Given the description of an element on the screen output the (x, y) to click on. 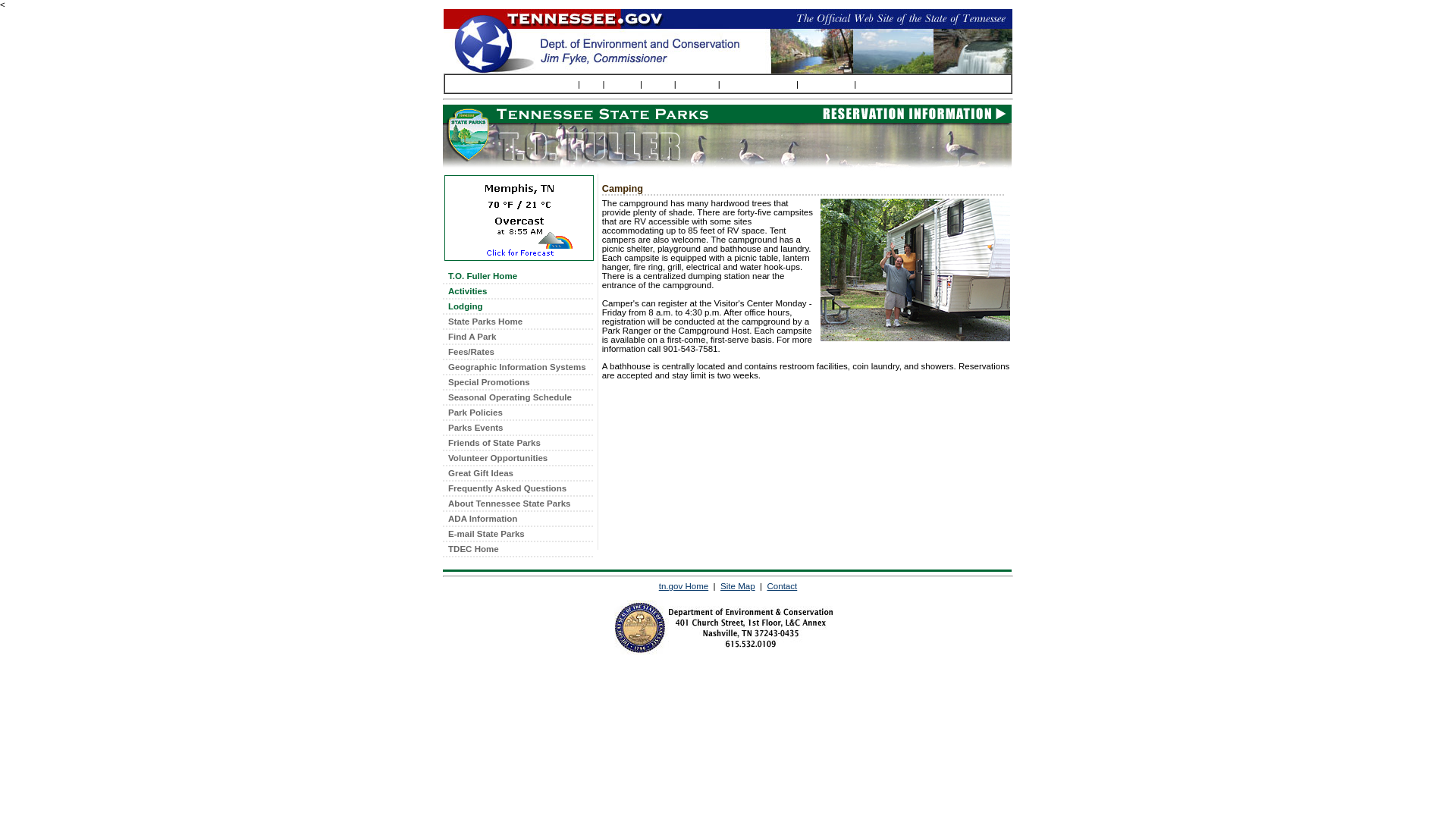
Permits (697, 82)
Special Promotions (517, 382)
T.O. Fuller Home (517, 276)
Lodging (517, 306)
Parks Events (517, 427)
Seasonal Operating Schedule (517, 397)
Parks Events (517, 427)
Seasonal Operating Schedule (517, 397)
Home (517, 276)
Friends Groups (517, 443)
Frequently Asked Questions (517, 488)
ADA Information (517, 519)
About Tennessee State Parks (517, 503)
State Parks Home (517, 322)
State Parks (884, 82)
